Given the description of an element on the screen output the (x, y) to click on. 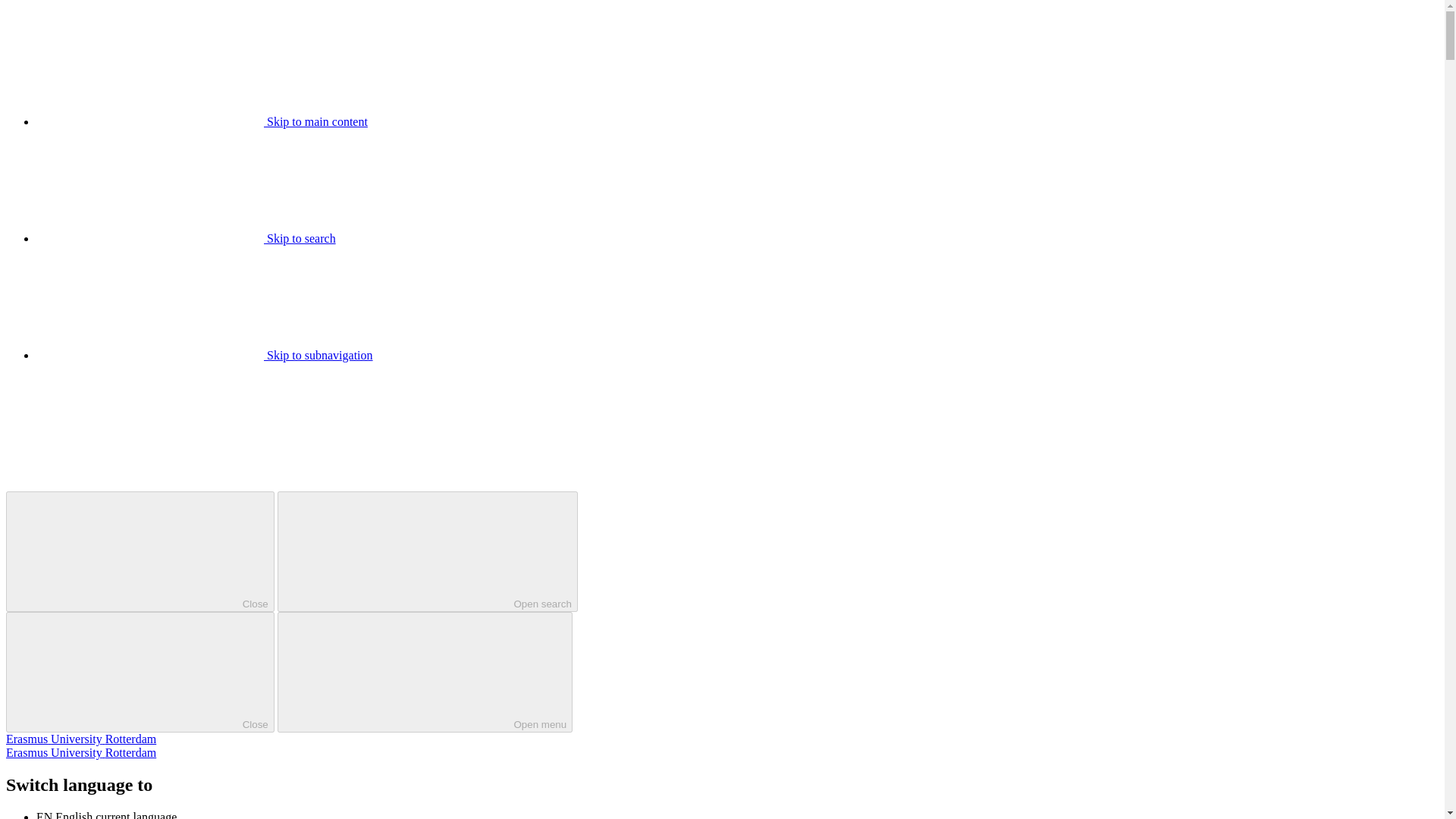
Close (140, 551)
Open search (428, 551)
Close (140, 671)
Erasmus University Rotterdam (80, 752)
Skip to main content (202, 121)
Open menu (425, 671)
Skip to subnavigation (204, 354)
Erasmus University Rotterdam (80, 738)
Skip to search (186, 237)
